Given the description of an element on the screen output the (x, y) to click on. 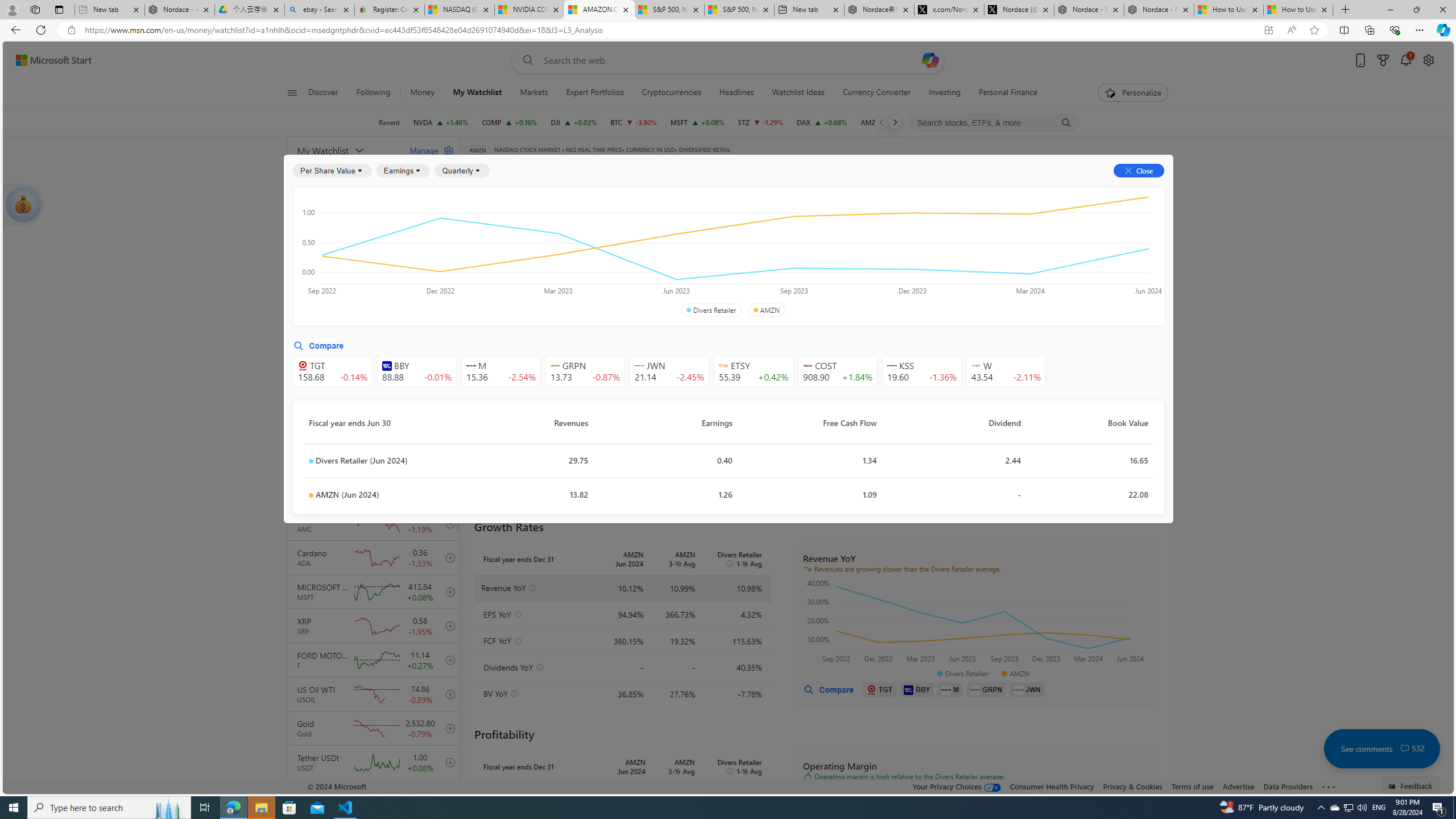
Class: text-DS-EntryPoint1-3 (888, 254)
Growth Rates (602, 253)
Currency Converter (876, 92)
BTC Bitcoin decrease 59,996.99 -2,337.48 -3.90% (632, 122)
DJI DOW increase 41,250.50 +9.98 +0.02% (573, 122)
All (479, 253)
Your Privacy Choices (956, 786)
Balance Sheet (614, 223)
add to your watchlist (447, 796)
Investing (944, 92)
Privacy & Cookies (1131, 786)
